Given the description of an element on the screen output the (x, y) to click on. 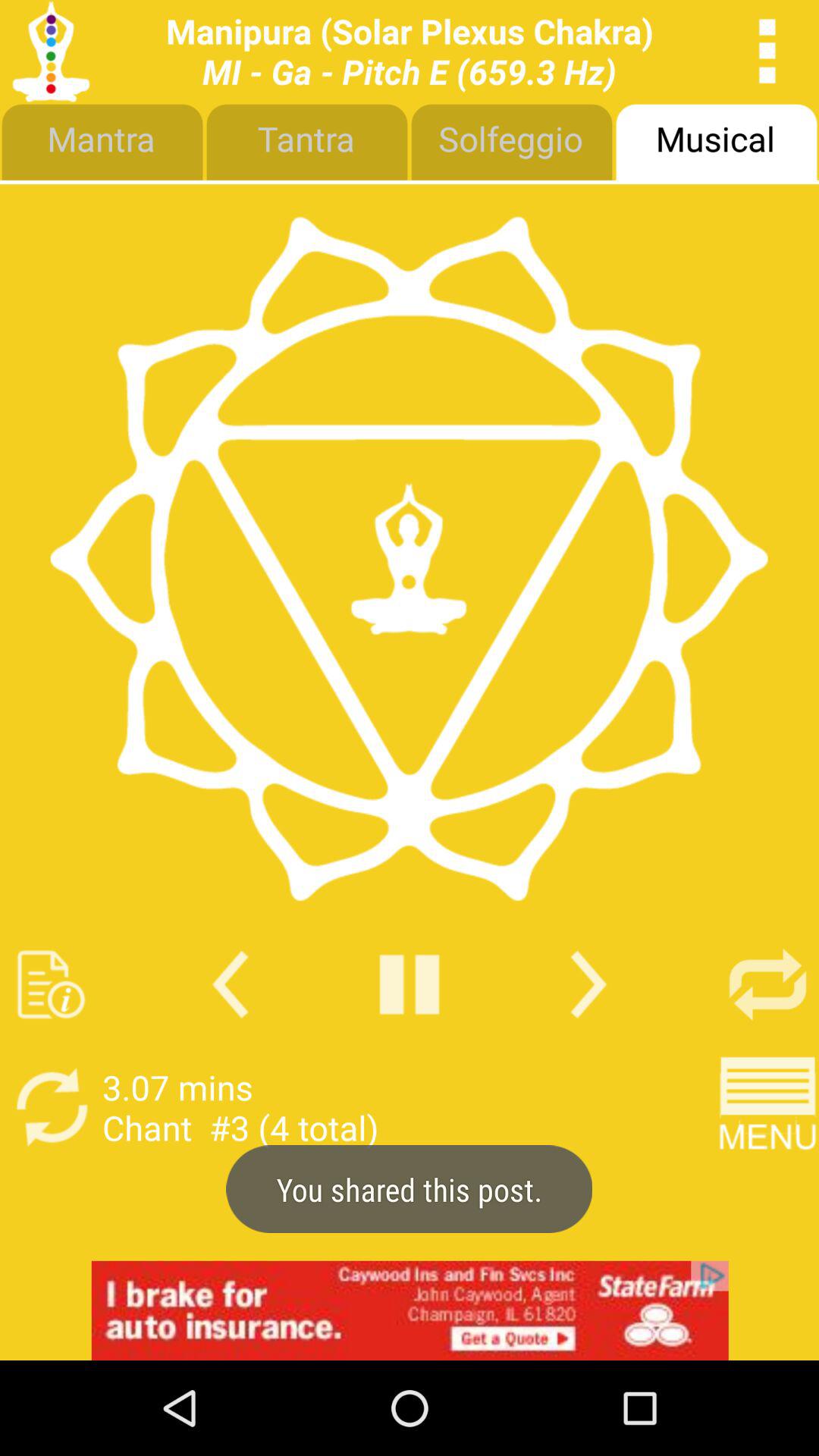
logo (408, 558)
